Given the description of an element on the screen output the (x, y) to click on. 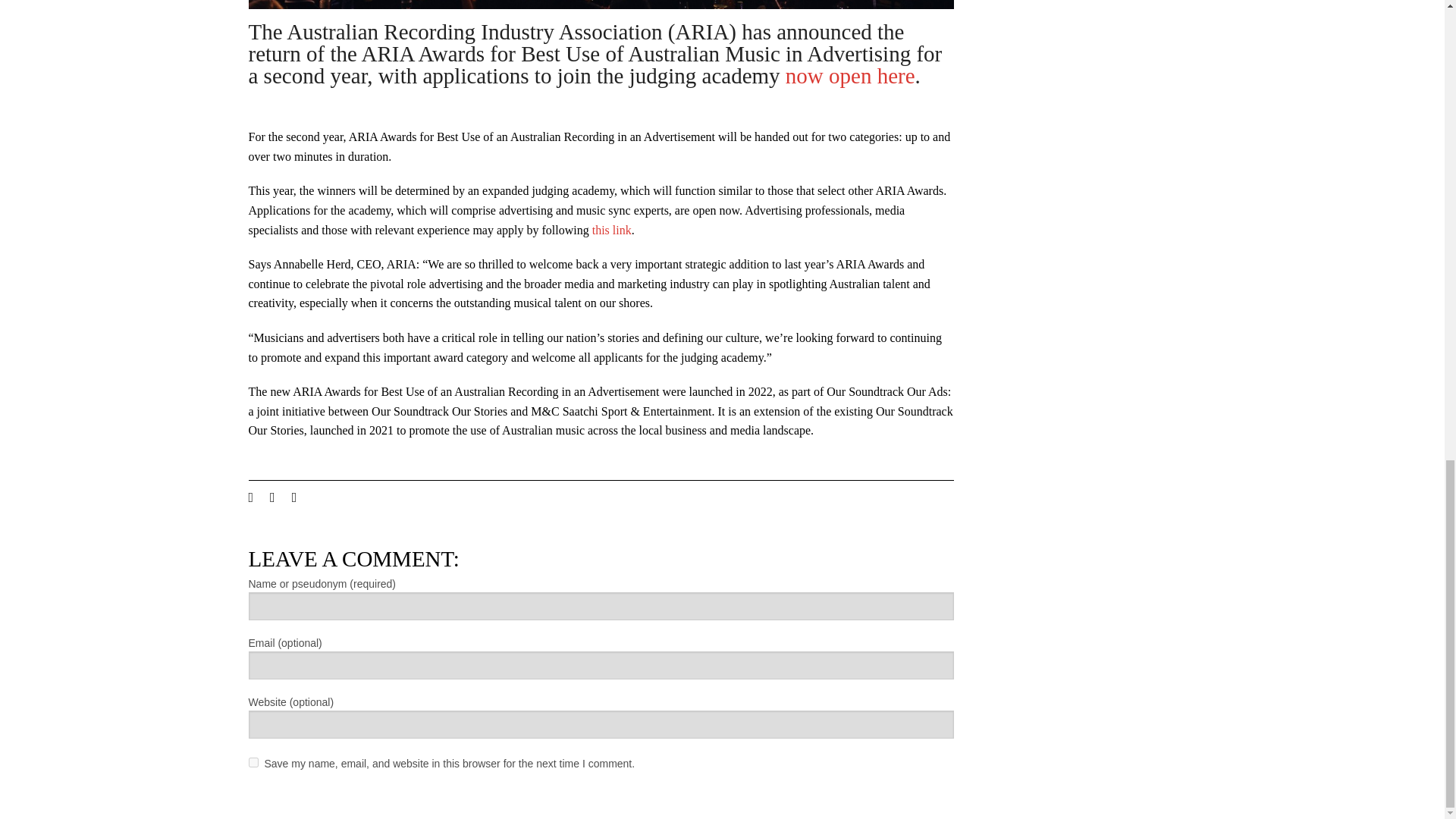
yes (253, 762)
